Given the description of an element on the screen output the (x, y) to click on. 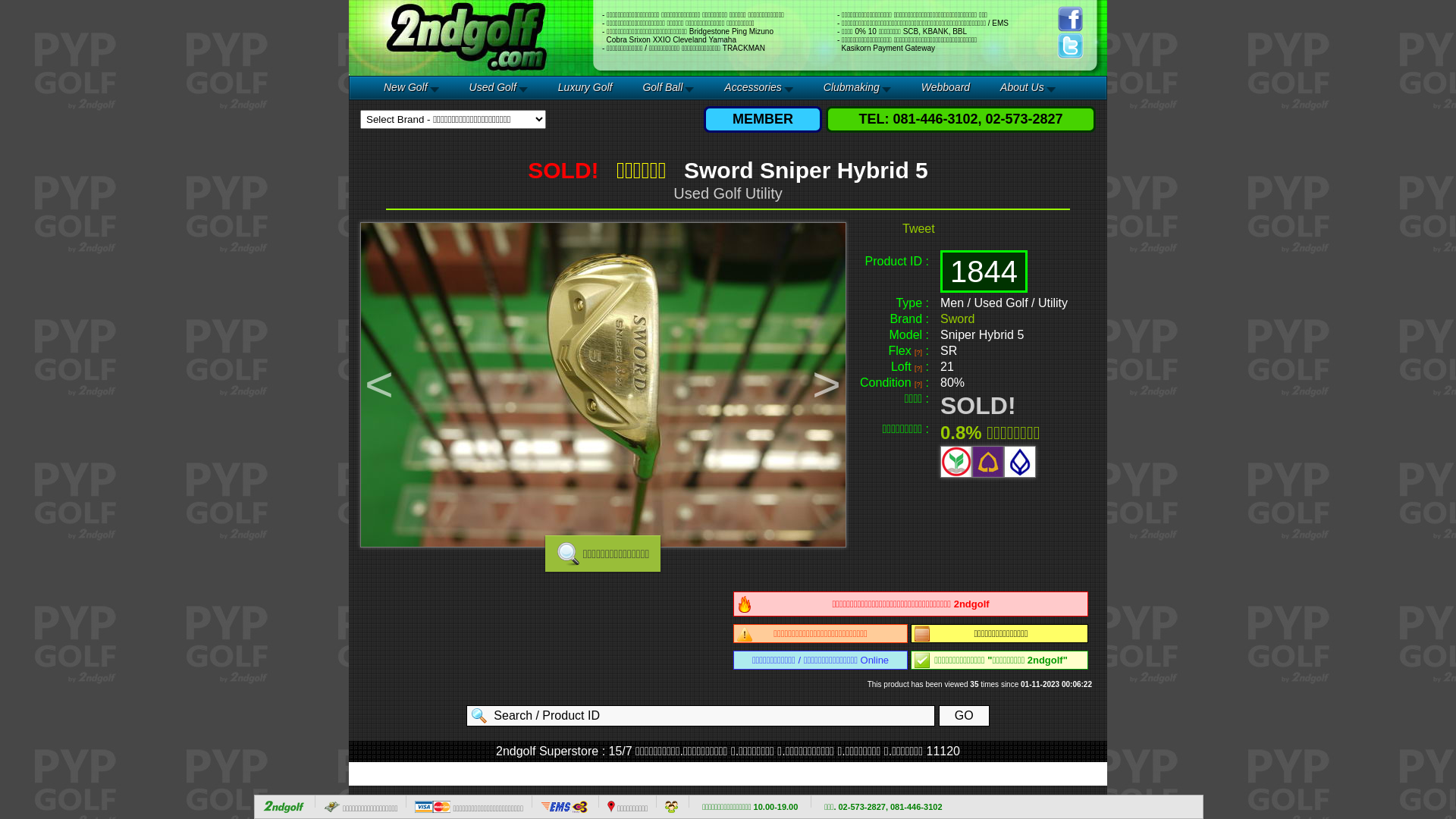
Used Golf Element type: text (498, 87)
[?] Element type: text (918, 366)
Clubmaking Element type: text (857, 87)
Webboard Element type: text (945, 87)
Sword Element type: text (957, 318)
Tweet Element type: text (918, 228)
Golf Ball Element type: text (667, 87)
  Element type: text (284, 807)
[?] Element type: text (918, 382)
New Golf Element type: text (411, 87)
[?] Element type: text (918, 350)
Luxury Golf Element type: text (585, 87)
About Us Element type: text (1027, 87)
GO Element type: text (963, 715)
  Element type: text (564, 807)
MEMBER Element type: text (762, 118)
Accessories Element type: text (758, 87)
